Given the description of an element on the screen output the (x, y) to click on. 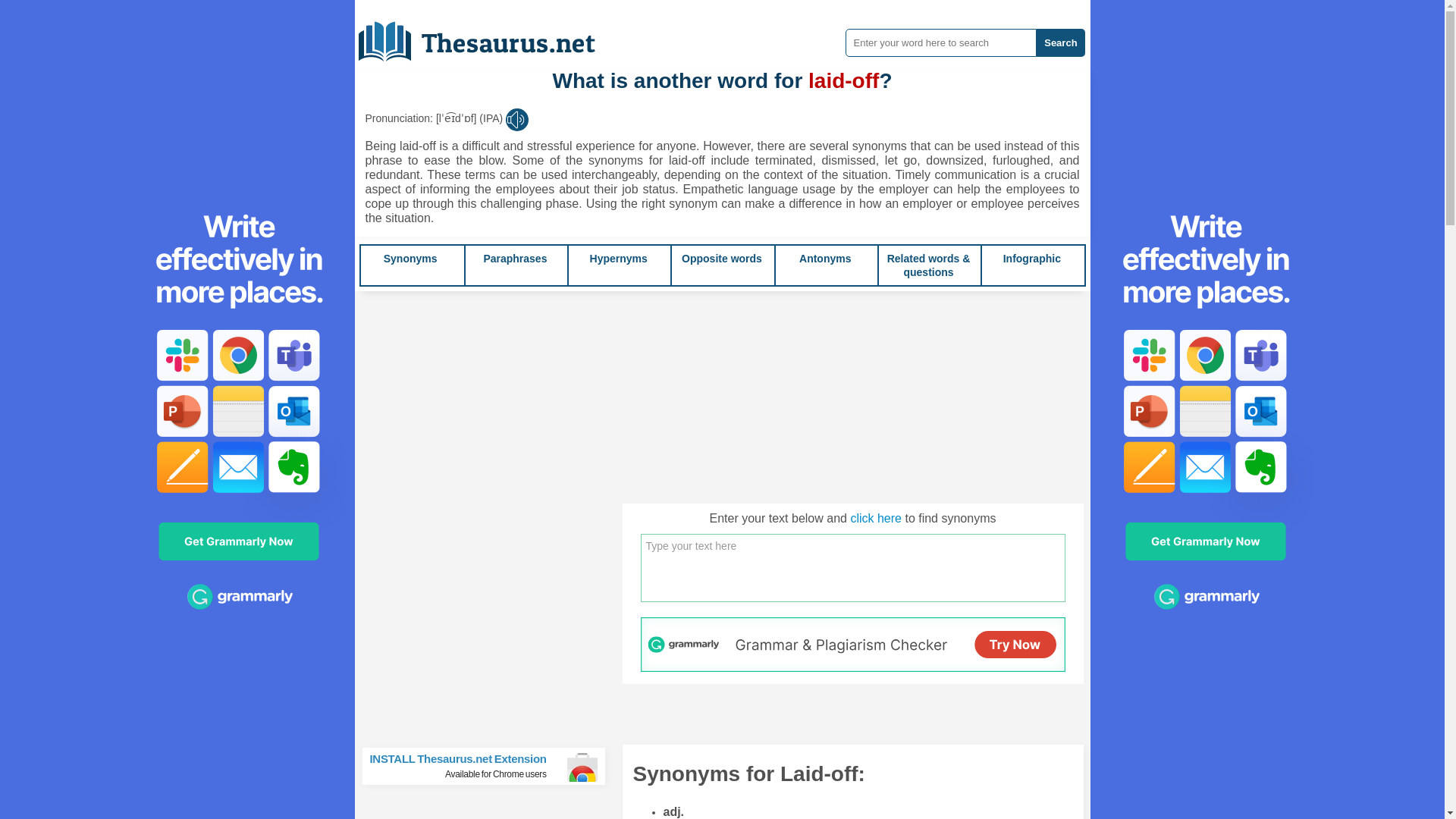
Thesaurus.net (487, 35)
Hypernyms (618, 258)
Search (1060, 42)
click here (875, 517)
Opposite words (721, 258)
Antonyms (824, 258)
Infographic (1032, 258)
Synonyms (411, 258)
Synonyms (411, 258)
Infographic (1032, 258)
